Given the description of an element on the screen output the (x, y) to click on. 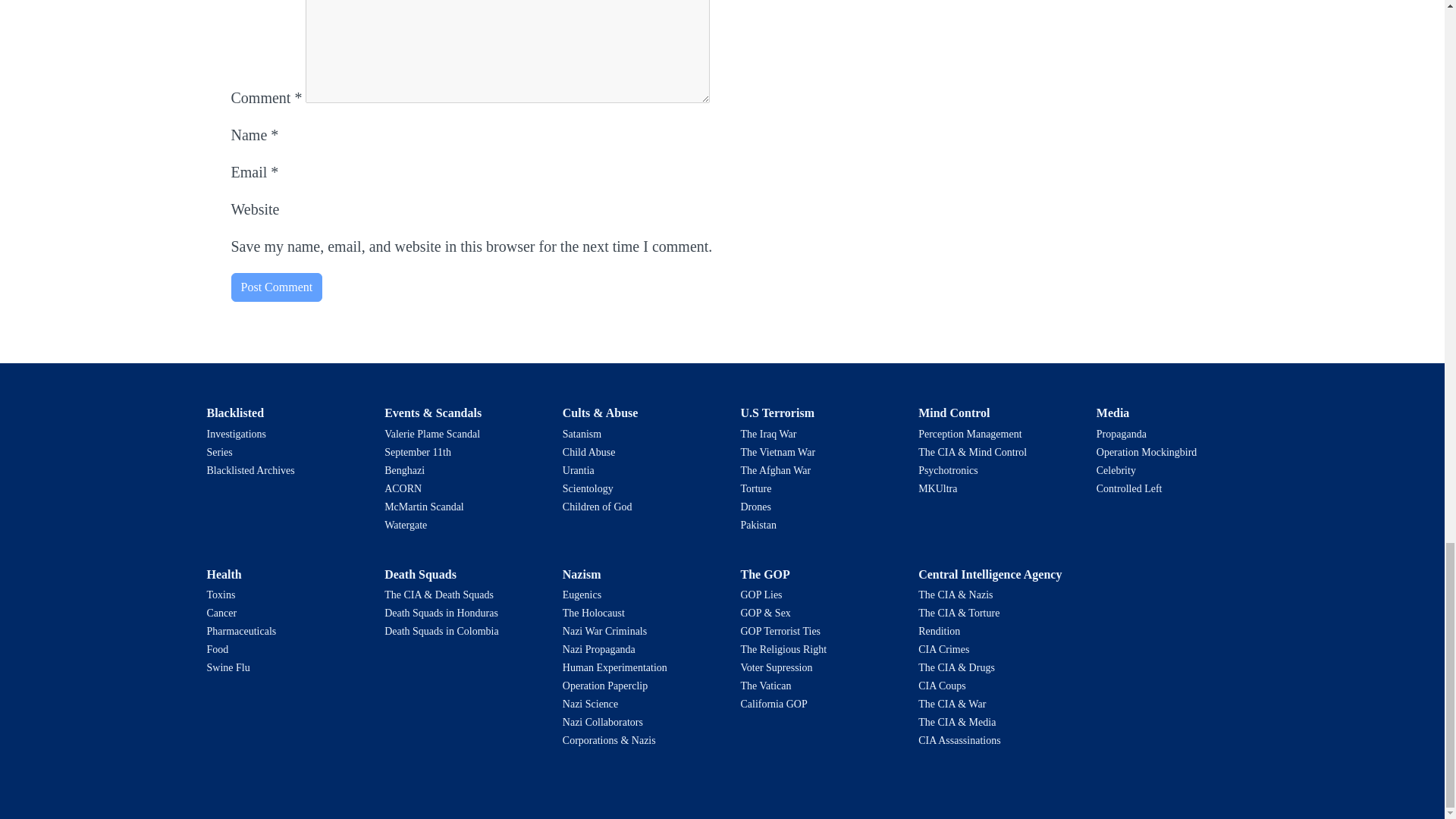
Post Comment (275, 287)
